Given the description of an element on the screen output the (x, y) to click on. 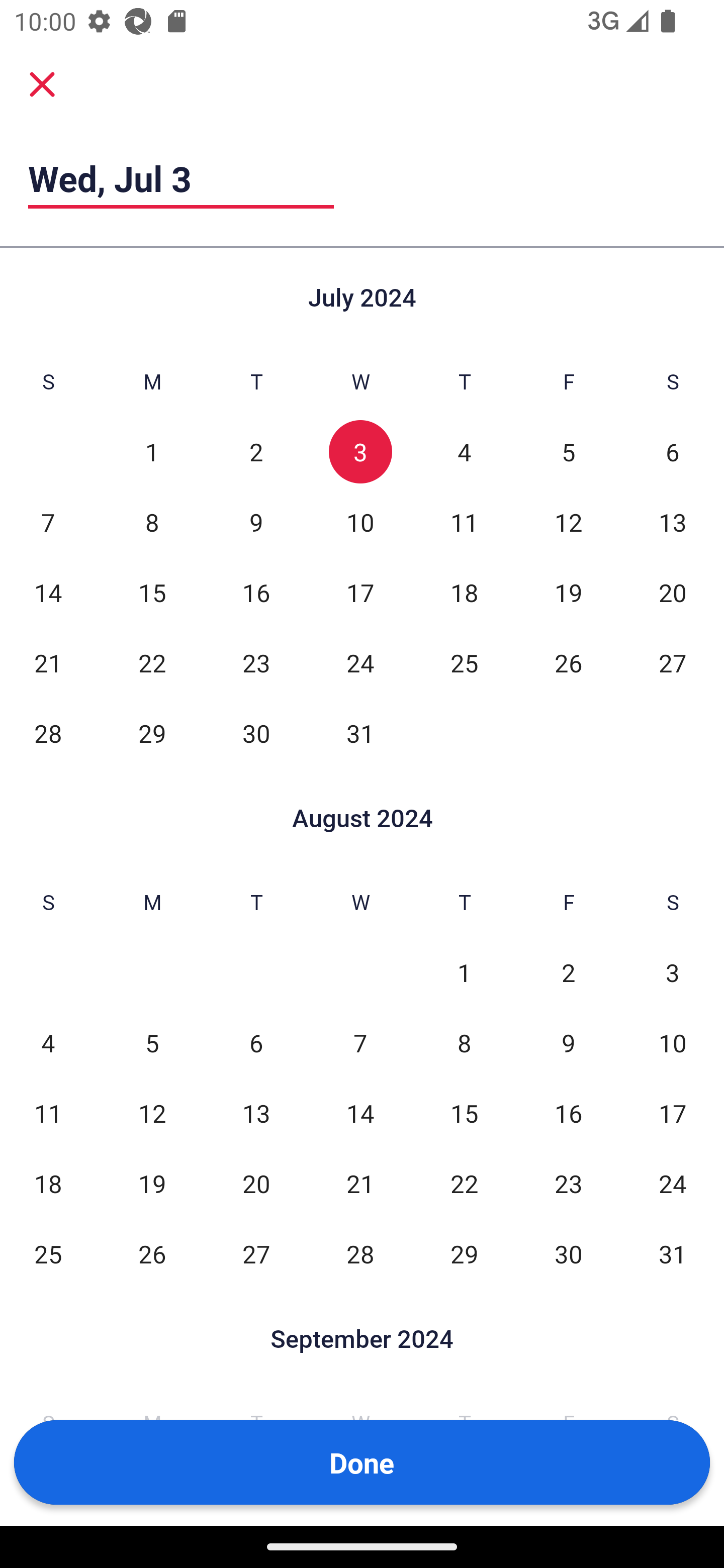
Cancel (41, 83)
Wed, Jul 3 (180, 178)
1 Mon, Jul 1, Not Selected (152, 452)
2 Tue, Jul 2, Not Selected (256, 452)
3 Wed, Jul 3, Selected (360, 452)
4 Thu, Jul 4, Not Selected (464, 452)
5 Fri, Jul 5, Not Selected (568, 452)
6 Sat, Jul 6, Not Selected (672, 452)
7 Sun, Jul 7, Not Selected (48, 521)
8 Mon, Jul 8, Not Selected (152, 521)
9 Tue, Jul 9, Not Selected (256, 521)
10 Wed, Jul 10, Not Selected (360, 521)
11 Thu, Jul 11, Not Selected (464, 521)
12 Fri, Jul 12, Not Selected (568, 521)
13 Sat, Jul 13, Not Selected (672, 521)
14 Sun, Jul 14, Not Selected (48, 591)
15 Mon, Jul 15, Not Selected (152, 591)
16 Tue, Jul 16, Not Selected (256, 591)
17 Wed, Jul 17, Not Selected (360, 591)
18 Thu, Jul 18, Not Selected (464, 591)
19 Fri, Jul 19, Not Selected (568, 591)
20 Sat, Jul 20, Not Selected (672, 591)
21 Sun, Jul 21, Not Selected (48, 662)
22 Mon, Jul 22, Not Selected (152, 662)
23 Tue, Jul 23, Not Selected (256, 662)
24 Wed, Jul 24, Not Selected (360, 662)
25 Thu, Jul 25, Not Selected (464, 662)
26 Fri, Jul 26, Not Selected (568, 662)
27 Sat, Jul 27, Not Selected (672, 662)
28 Sun, Jul 28, Not Selected (48, 732)
29 Mon, Jul 29, Not Selected (152, 732)
30 Tue, Jul 30, Not Selected (256, 732)
31 Wed, Jul 31, Not Selected (360, 732)
1 Thu, Aug 1, Not Selected (464, 972)
2 Fri, Aug 2, Not Selected (568, 972)
3 Sat, Aug 3, Not Selected (672, 972)
4 Sun, Aug 4, Not Selected (48, 1043)
5 Mon, Aug 5, Not Selected (152, 1043)
6 Tue, Aug 6, Not Selected (256, 1043)
7 Wed, Aug 7, Not Selected (360, 1043)
8 Thu, Aug 8, Not Selected (464, 1043)
9 Fri, Aug 9, Not Selected (568, 1043)
10 Sat, Aug 10, Not Selected (672, 1043)
11 Sun, Aug 11, Not Selected (48, 1112)
12 Mon, Aug 12, Not Selected (152, 1112)
13 Tue, Aug 13, Not Selected (256, 1112)
14 Wed, Aug 14, Not Selected (360, 1112)
15 Thu, Aug 15, Not Selected (464, 1112)
16 Fri, Aug 16, Not Selected (568, 1112)
17 Sat, Aug 17, Not Selected (672, 1112)
18 Sun, Aug 18, Not Selected (48, 1182)
19 Mon, Aug 19, Not Selected (152, 1182)
20 Tue, Aug 20, Not Selected (256, 1182)
21 Wed, Aug 21, Not Selected (360, 1182)
22 Thu, Aug 22, Not Selected (464, 1182)
23 Fri, Aug 23, Not Selected (568, 1182)
24 Sat, Aug 24, Not Selected (672, 1182)
25 Sun, Aug 25, Not Selected (48, 1253)
26 Mon, Aug 26, Not Selected (152, 1253)
27 Tue, Aug 27, Not Selected (256, 1253)
28 Wed, Aug 28, Not Selected (360, 1253)
29 Thu, Aug 29, Not Selected (464, 1253)
30 Fri, Aug 30, Not Selected (568, 1253)
31 Sat, Aug 31, Not Selected (672, 1253)
Done Button Done (361, 1462)
